Given the description of an element on the screen output the (x, y) to click on. 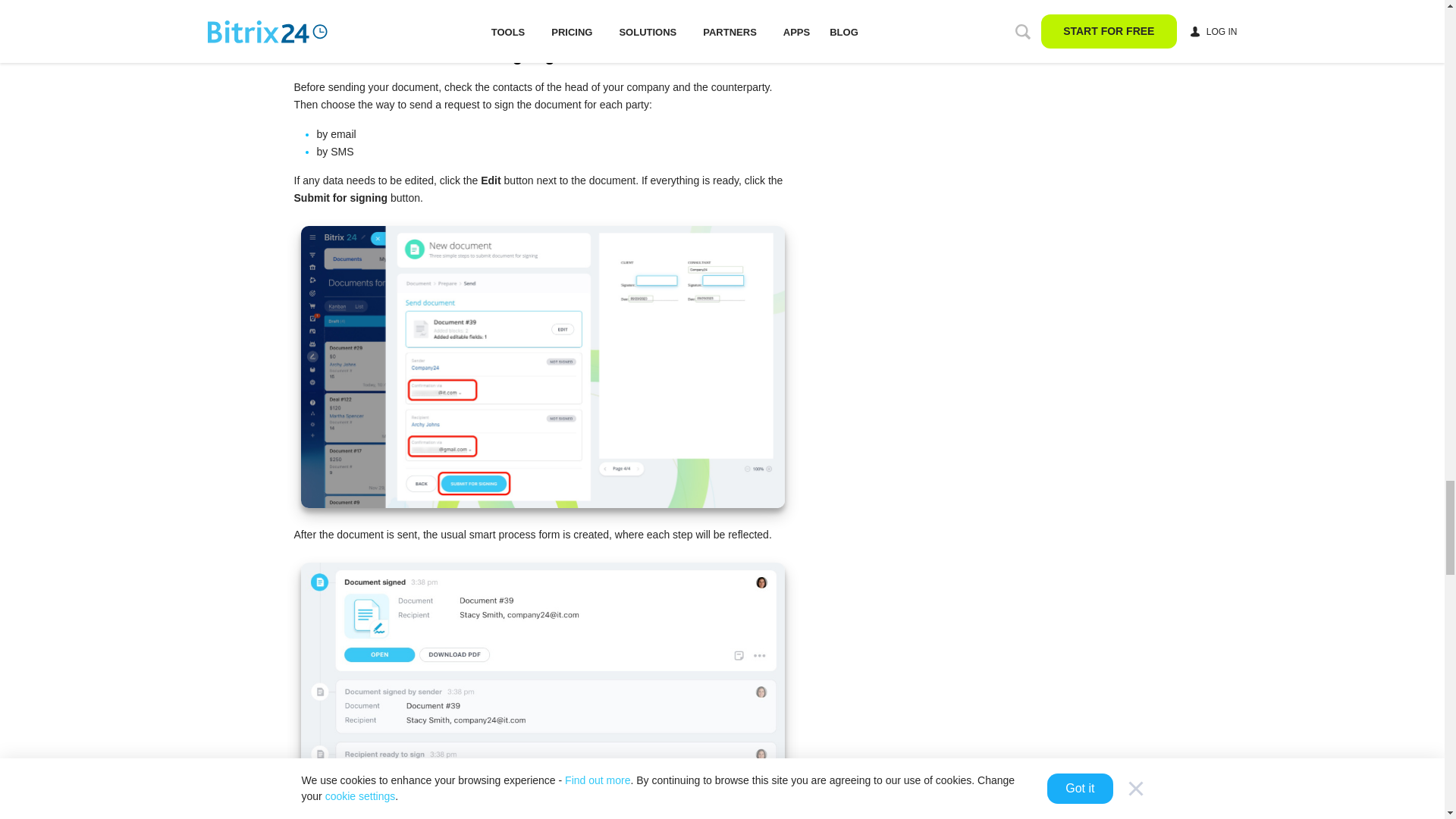
Document timeline (541, 690)
